Given the description of an element on the screen output the (x, y) to click on. 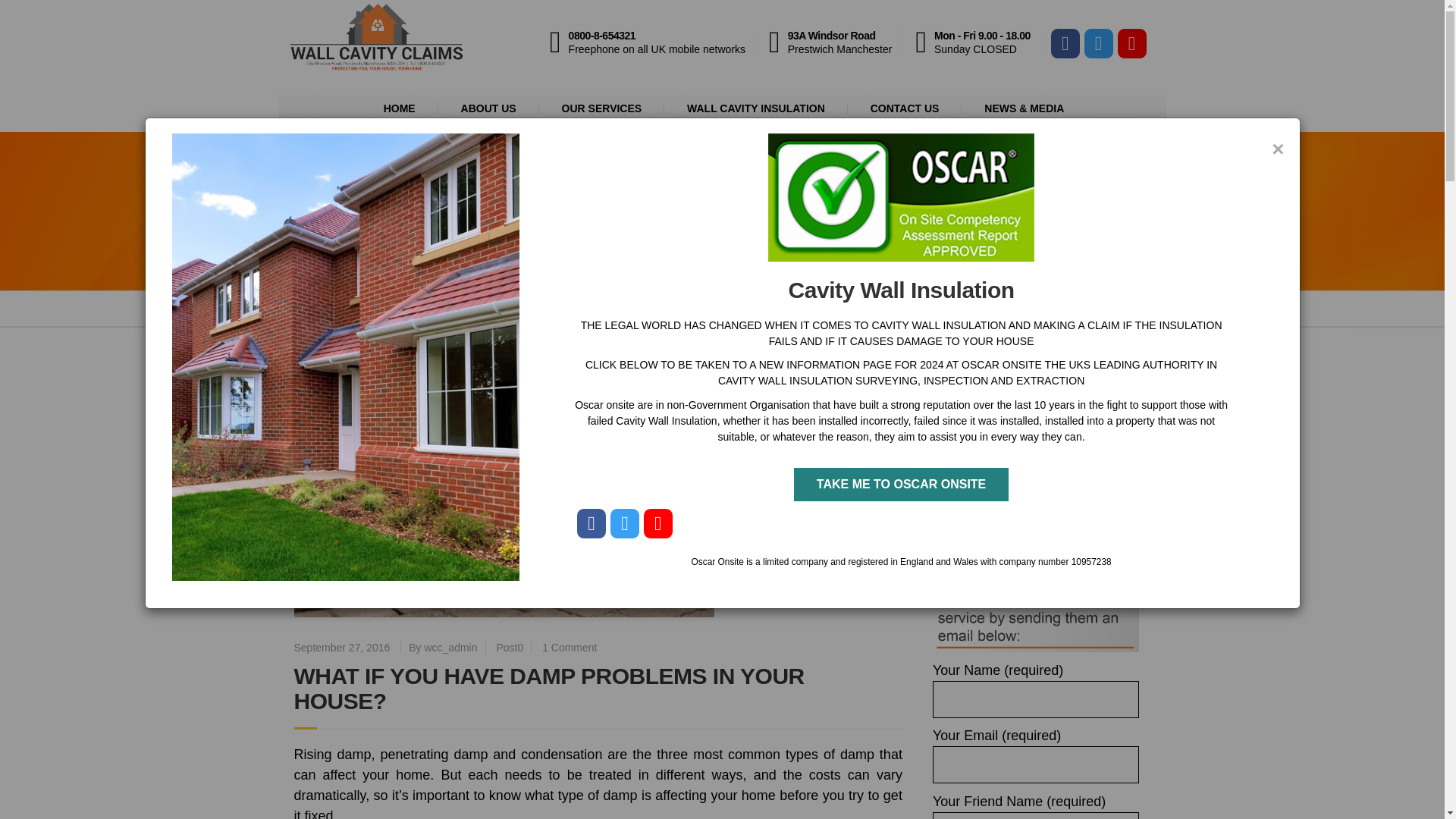
ABOUT US (488, 108)
Wall Cavity Claims (337, 308)
TAKE ME TO OSCAR ONSITE (901, 484)
Post0 (509, 647)
OUR SERVICES (601, 108)
WALL CAVITY INSULATION (755, 108)
HOME (399, 108)
1 Comment (653, 43)
Go to the Post0 Category archives. (568, 647)
Go to Wall Cavity Claims. (421, 308)
CONTACT US (337, 308)
Post0 (904, 108)
